Given the description of an element on the screen output the (x, y) to click on. 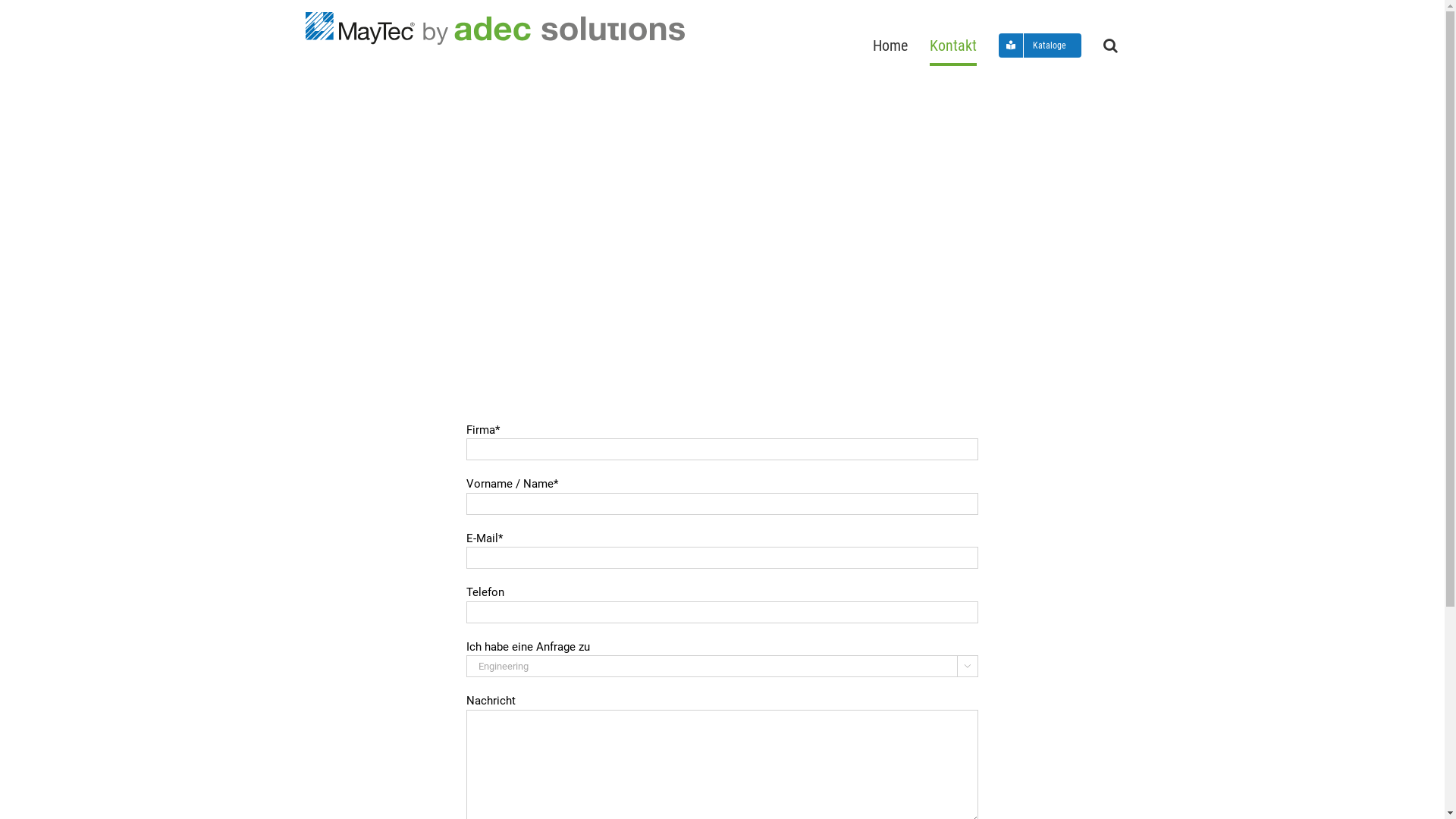
Suche Element type: hover (1109, 45)
Kataloge Element type: text (1038, 45)
Kontakt Element type: text (952, 45)
Home Element type: text (889, 45)
